Given the description of an element on the screen output the (x, y) to click on. 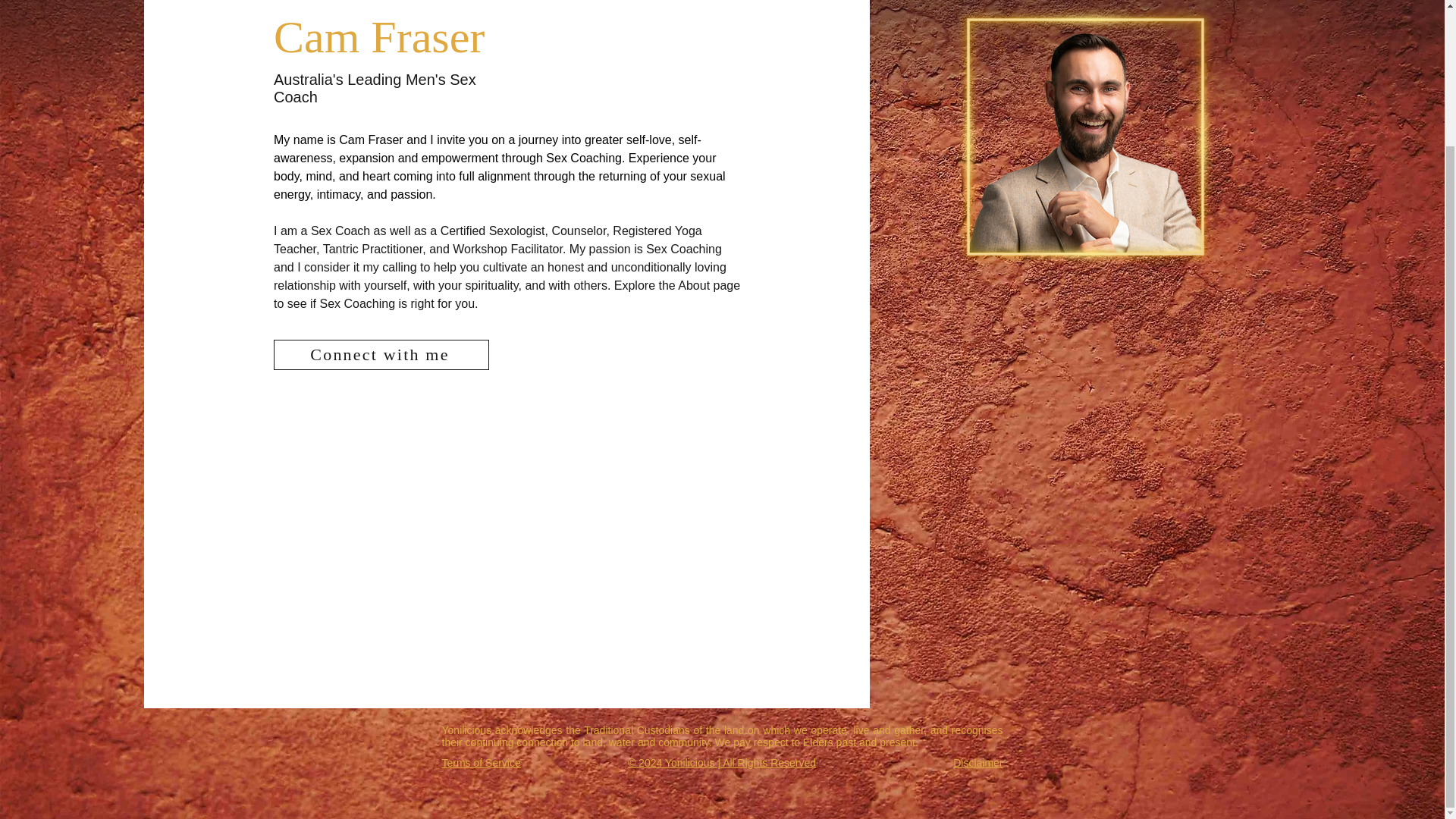
magicsquarecam1.png (1085, 139)
Connect with me (381, 354)
Disclaimer (978, 762)
Terms of Service (480, 762)
